Given the description of an element on the screen output the (x, y) to click on. 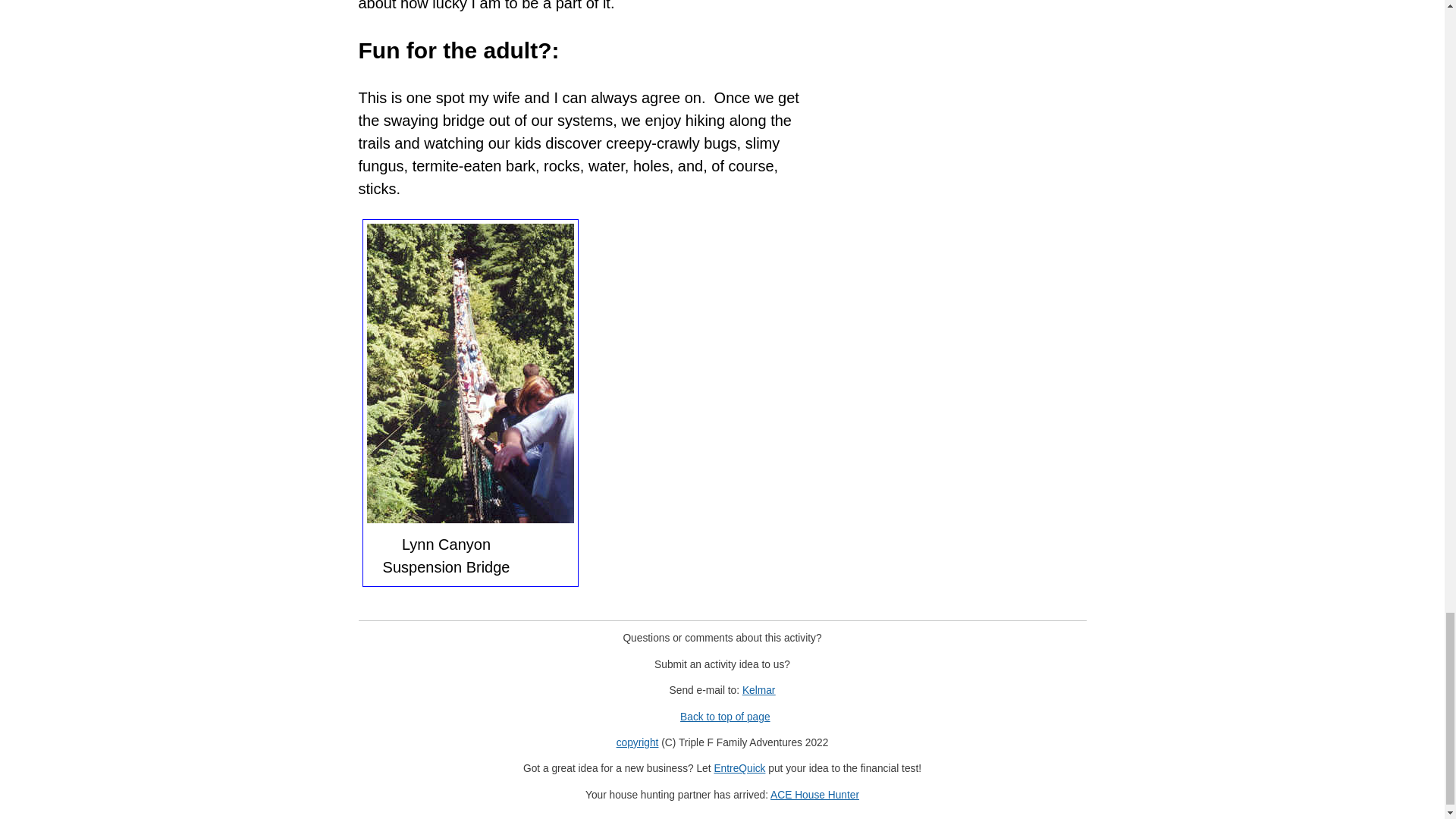
copyright (637, 742)
EntreQuick (739, 767)
ACE House Hunter (814, 794)
Kelmar (759, 690)
Back to top of page (724, 716)
